Given the description of an element on the screen output the (x, y) to click on. 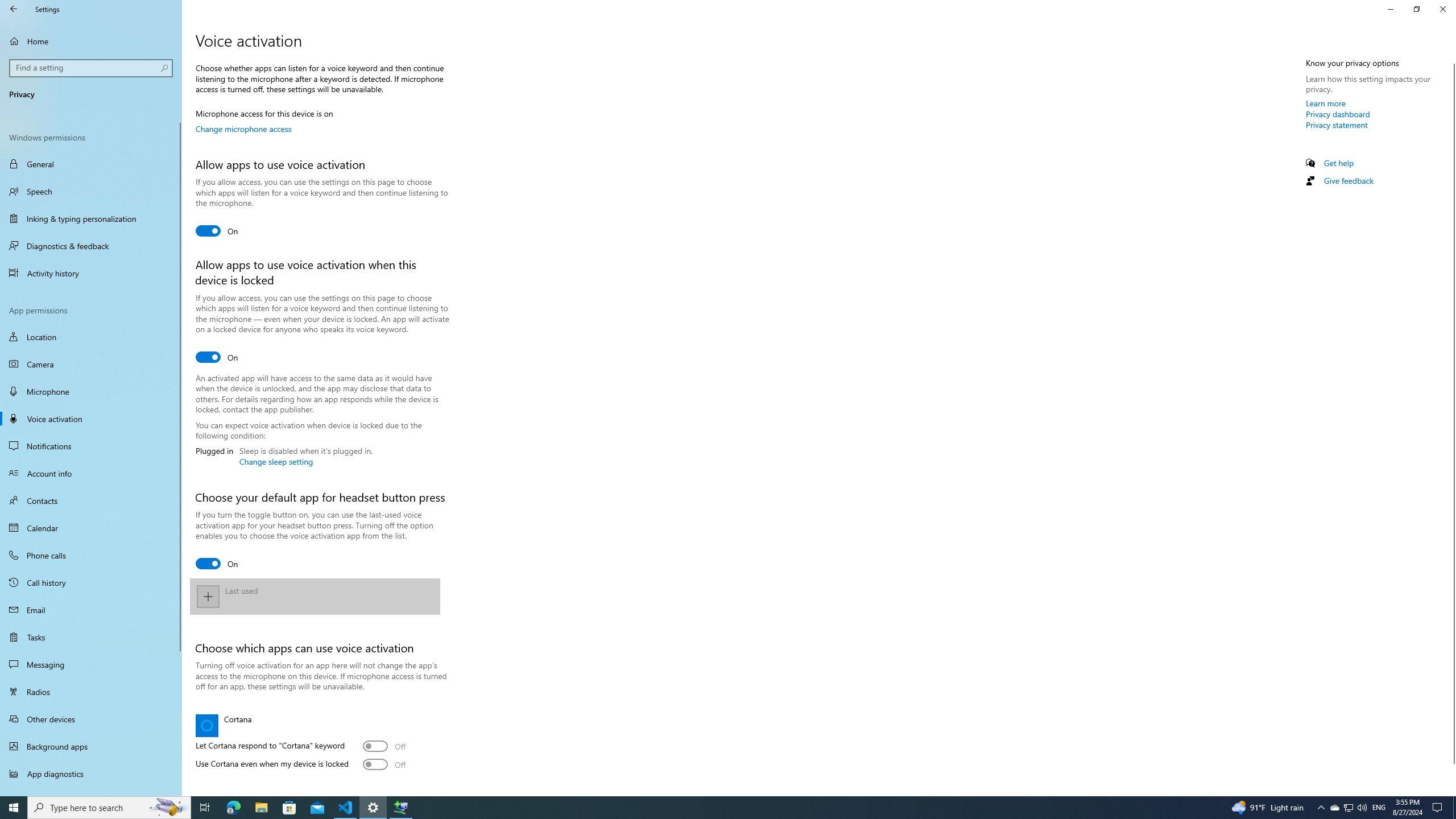
Speech (91, 190)
General (91, 163)
Let Cortana respond to "Cortana" keyword (384, 746)
Home (91, 40)
Automatic file downloads (91, 791)
Radios (91, 691)
